Given the description of an element on the screen output the (x, y) to click on. 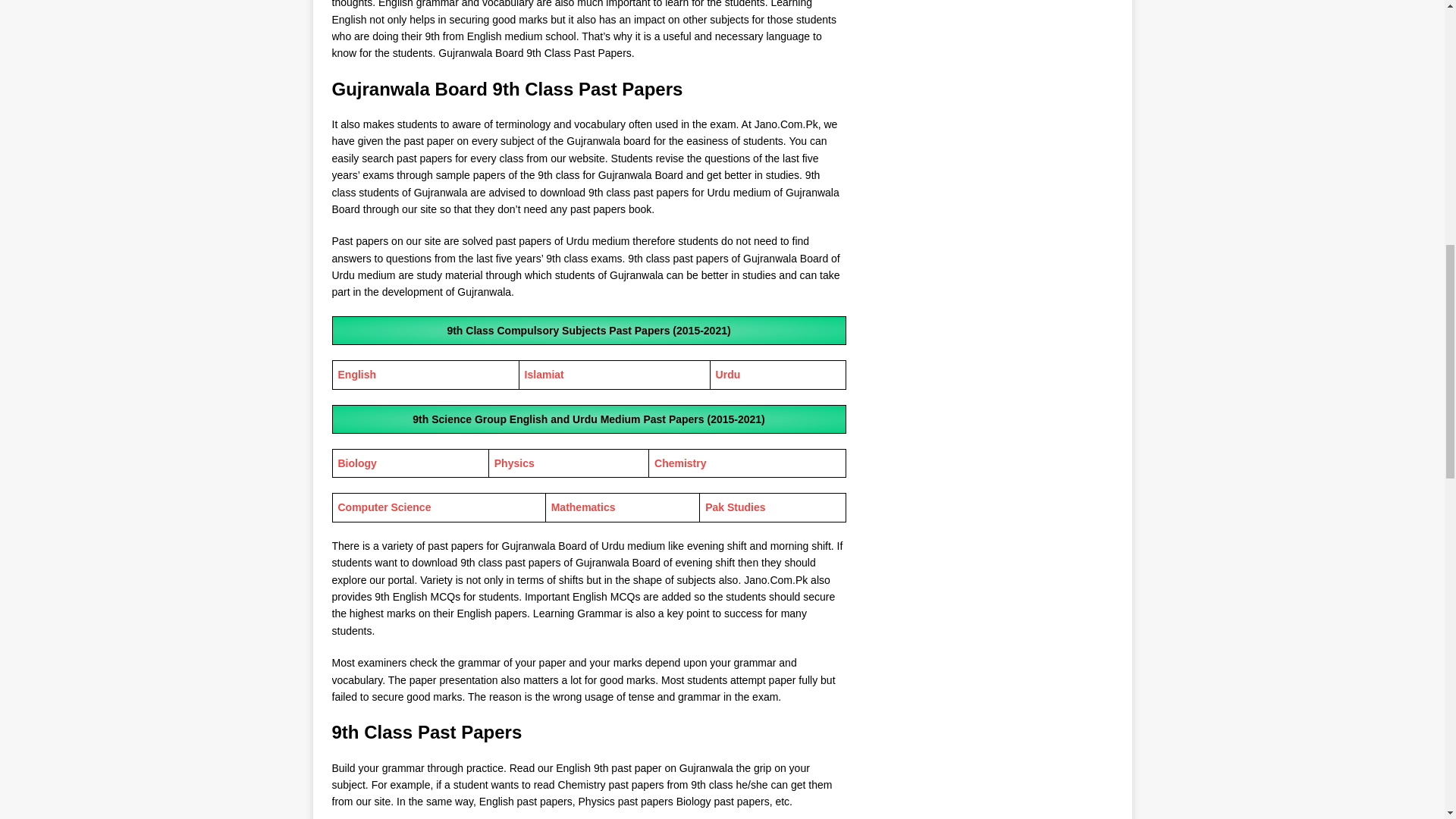
Computer Science (383, 507)
Pak Studies (734, 507)
Islamiat (544, 374)
Biology (357, 463)
Mathematics (583, 507)
English (357, 374)
Chemistry (679, 463)
Physics (514, 463)
Urdu (728, 374)
